Given the description of an element on the screen output the (x, y) to click on. 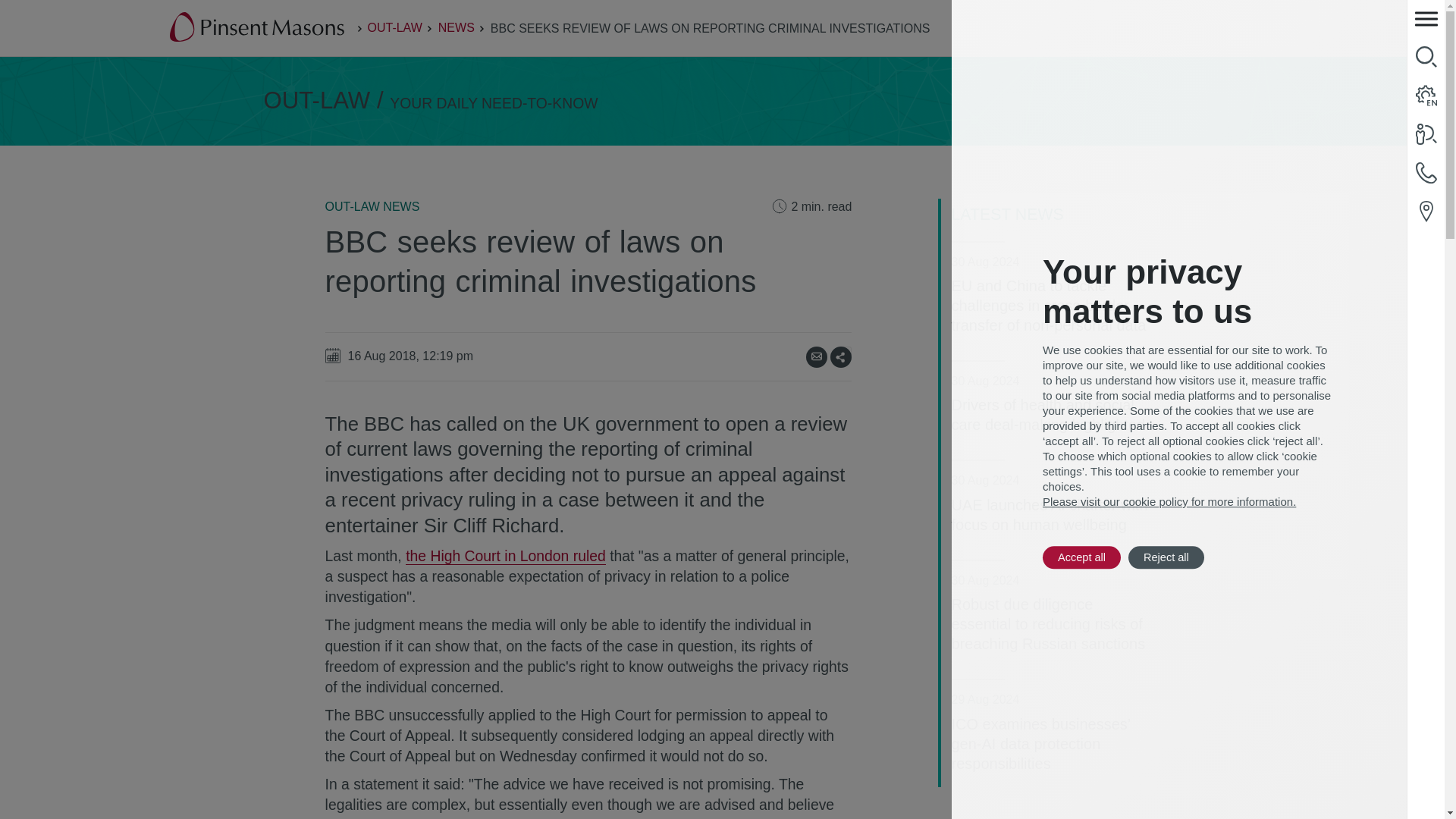
NEWS (456, 27)
OUT-LAW (394, 27)
Pinsent Masons (257, 28)
on (846, 351)
Email (816, 356)
